Given the description of an element on the screen output the (x, y) to click on. 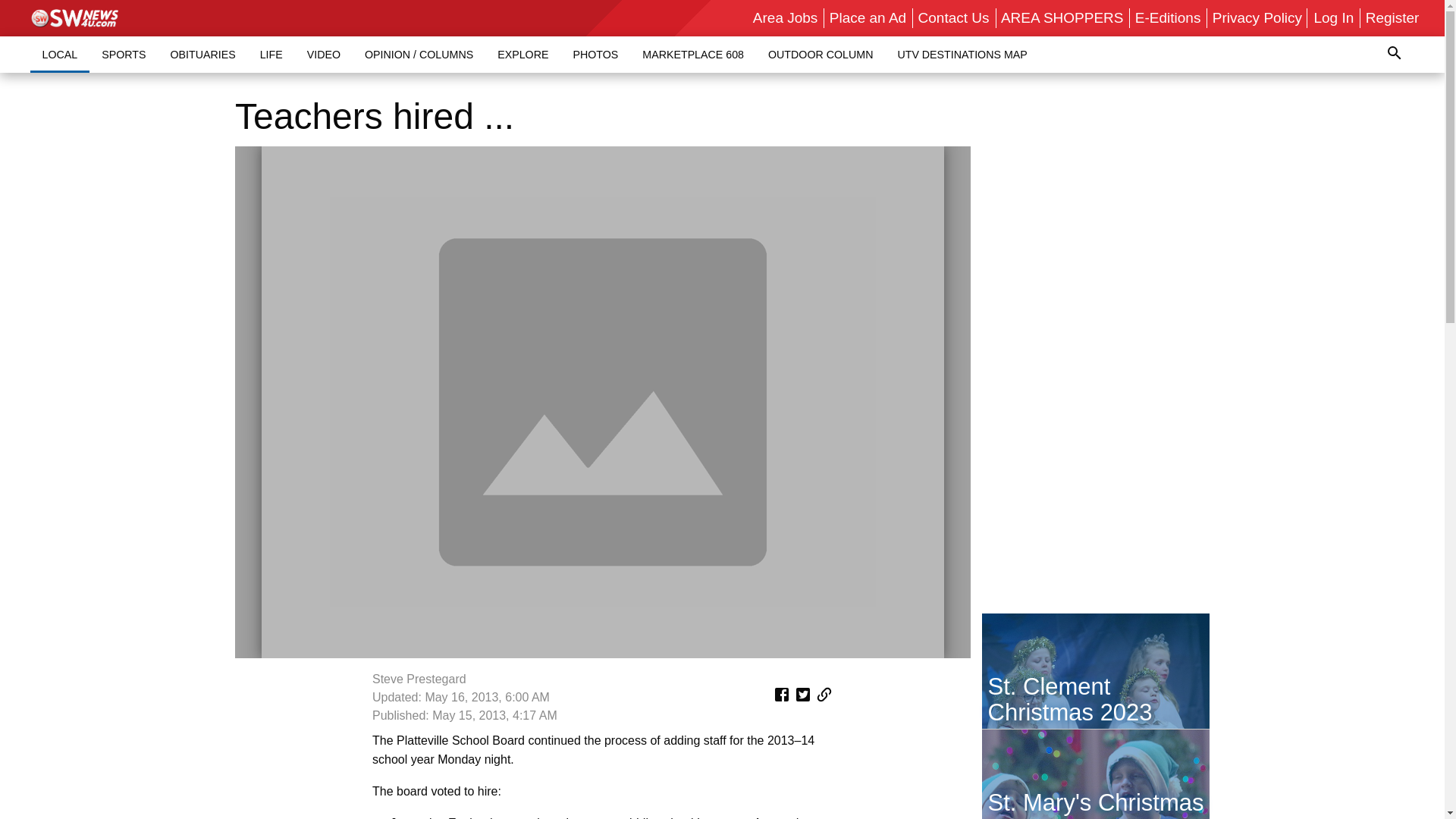
Register (1392, 17)
LIFE (271, 54)
Area Jobs (785, 17)
PHOTOS (595, 54)
AREA SHOPPERS (1062, 17)
SPORTS (122, 54)
OUTDOOR COLUMN (820, 54)
E-Editions (1168, 17)
OBITUARIES (202, 54)
Contact Us (954, 17)
